Given the description of an element on the screen output the (x, y) to click on. 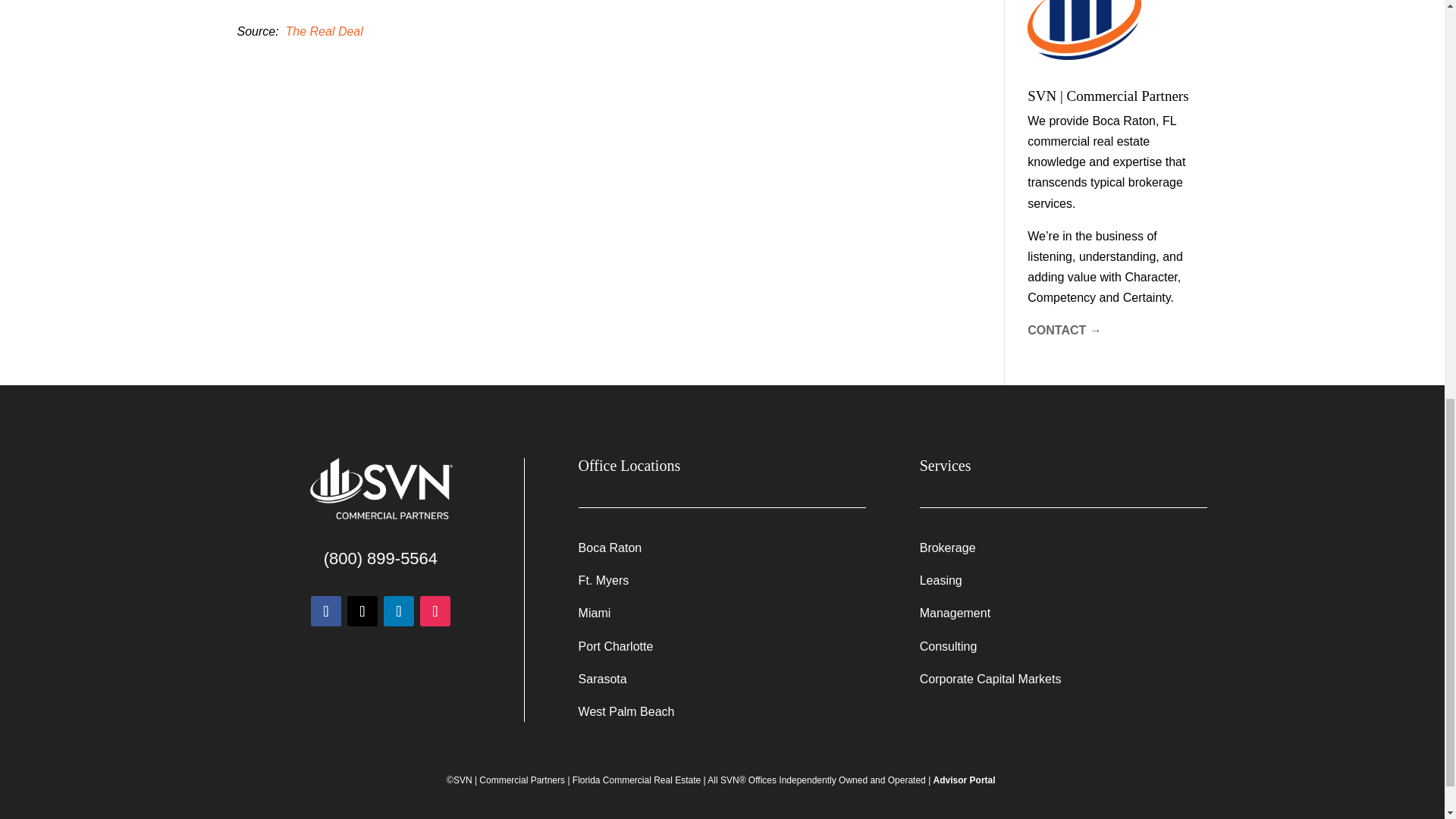
SVN Commercial Partners White Logo png (379, 489)
Follow on Facebook (325, 611)
Follow on LinkedIn (398, 611)
The Real Deal (323, 31)
Follow on Instagram (434, 611)
Follow on X (362, 611)
